Given the description of an element on the screen output the (x, y) to click on. 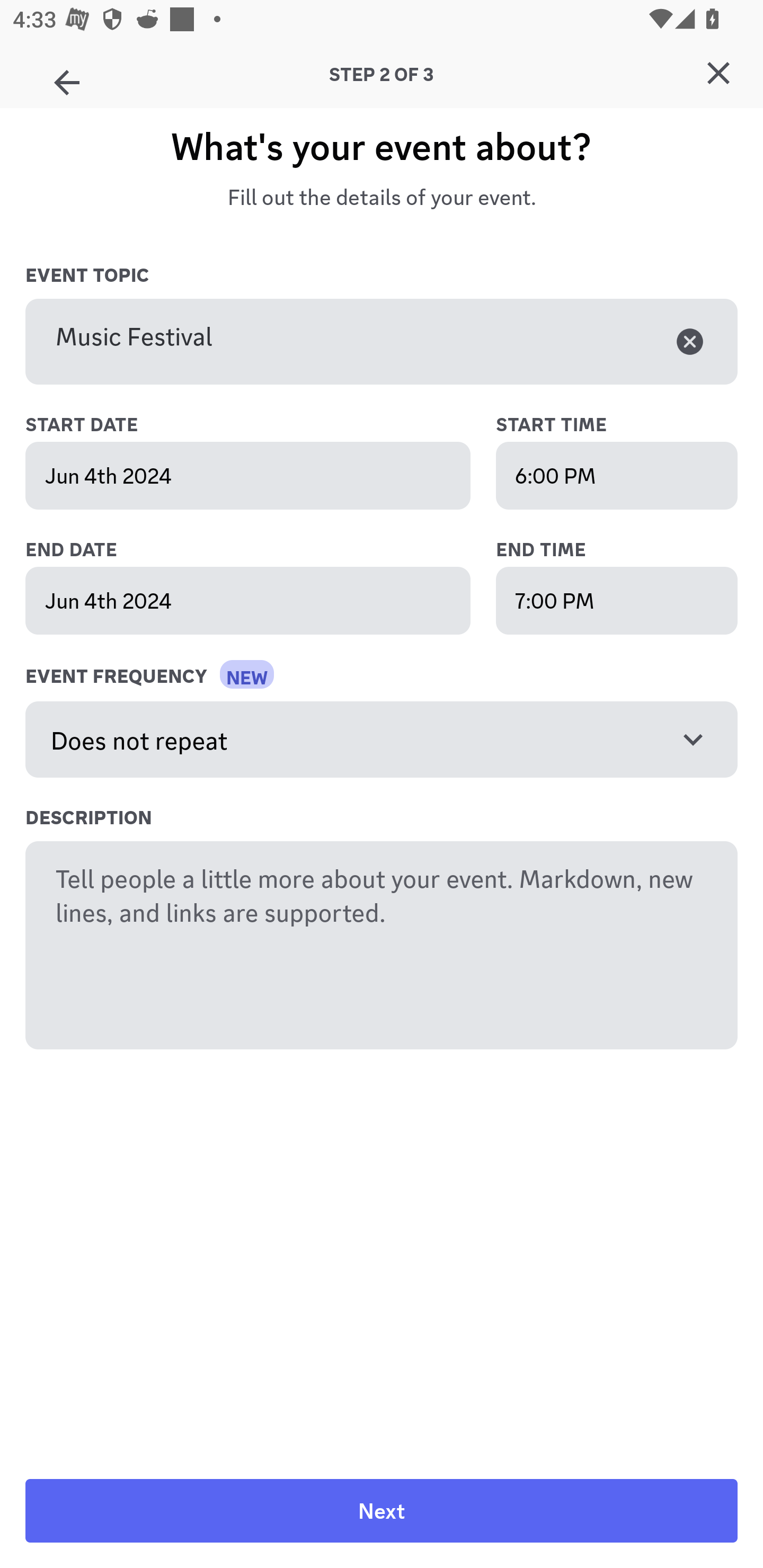
  Friends F (66, 75)
Close (718, 72)
Search (373, 165)
Music Festival Event Topic Clear (381, 341)
Clear (689, 341)
START DATE (266, 425)
START TIME (616, 425)
Start Date, Jun 4th 2024 Jun 4th 2024 (247, 475)
Start Time, 6:00 PM 6:00 PM (616, 475)
END DATE (266, 550)
END TIME (616, 550)
End Date, Jun 4th 2024 Jun 4th 2024 (247, 600)
End Time, 7:00 PM 7:00 PM (616, 600)
Event Frequency Does not repeat (381, 738)
Next (381, 1510)
